Given the description of an element on the screen output the (x, y) to click on. 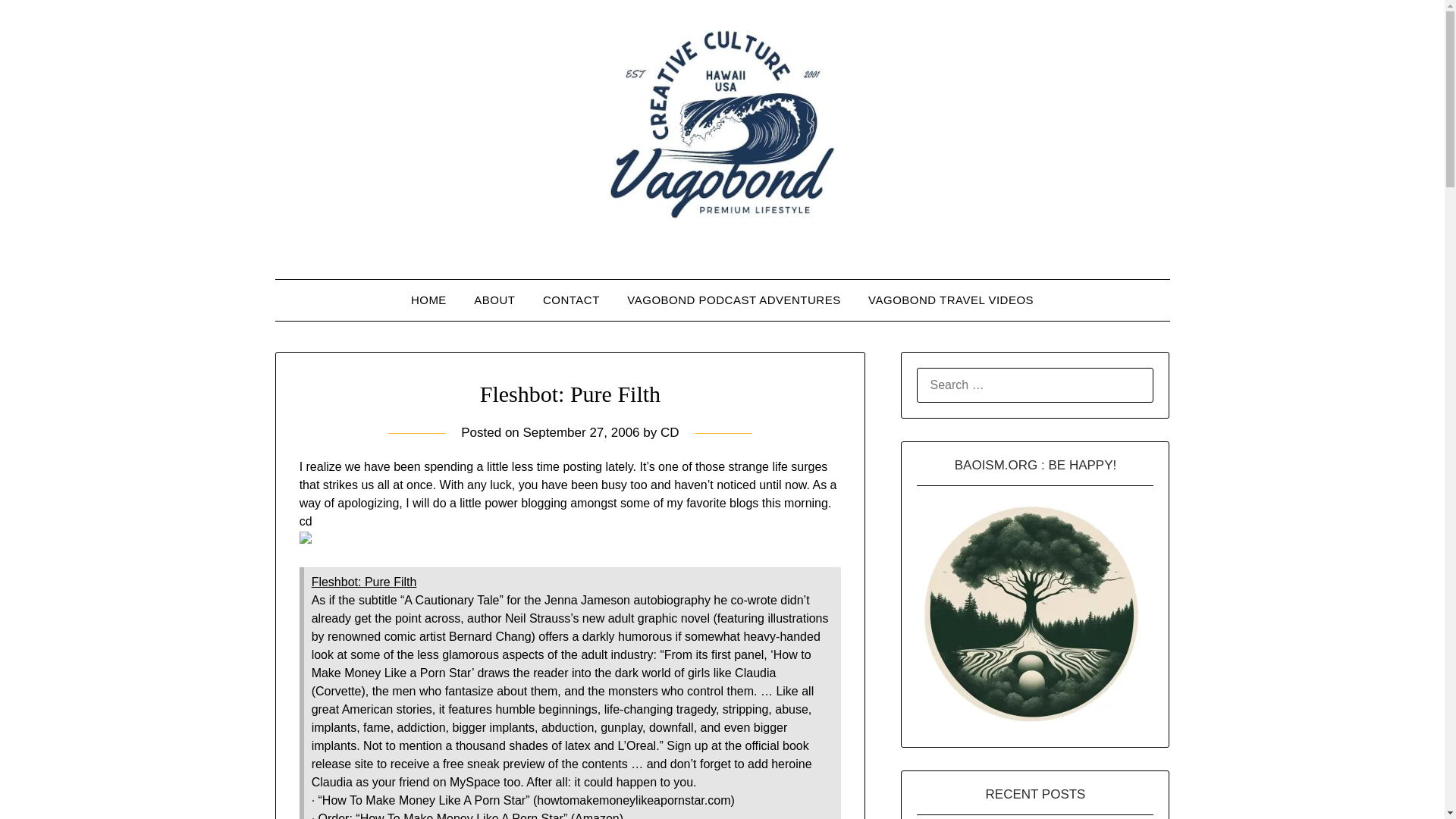
HOME (428, 300)
September 27, 2006 (581, 432)
VAGOBOND PODCAST ADVENTURES (732, 300)
CONTACT (571, 300)
Fleshbot: Pure Filth (363, 581)
CD (670, 432)
Search (38, 22)
VAGOBOND TRAVEL VIDEOS (950, 300)
ABOUT (494, 300)
